Given the description of an element on the screen output the (x, y) to click on. 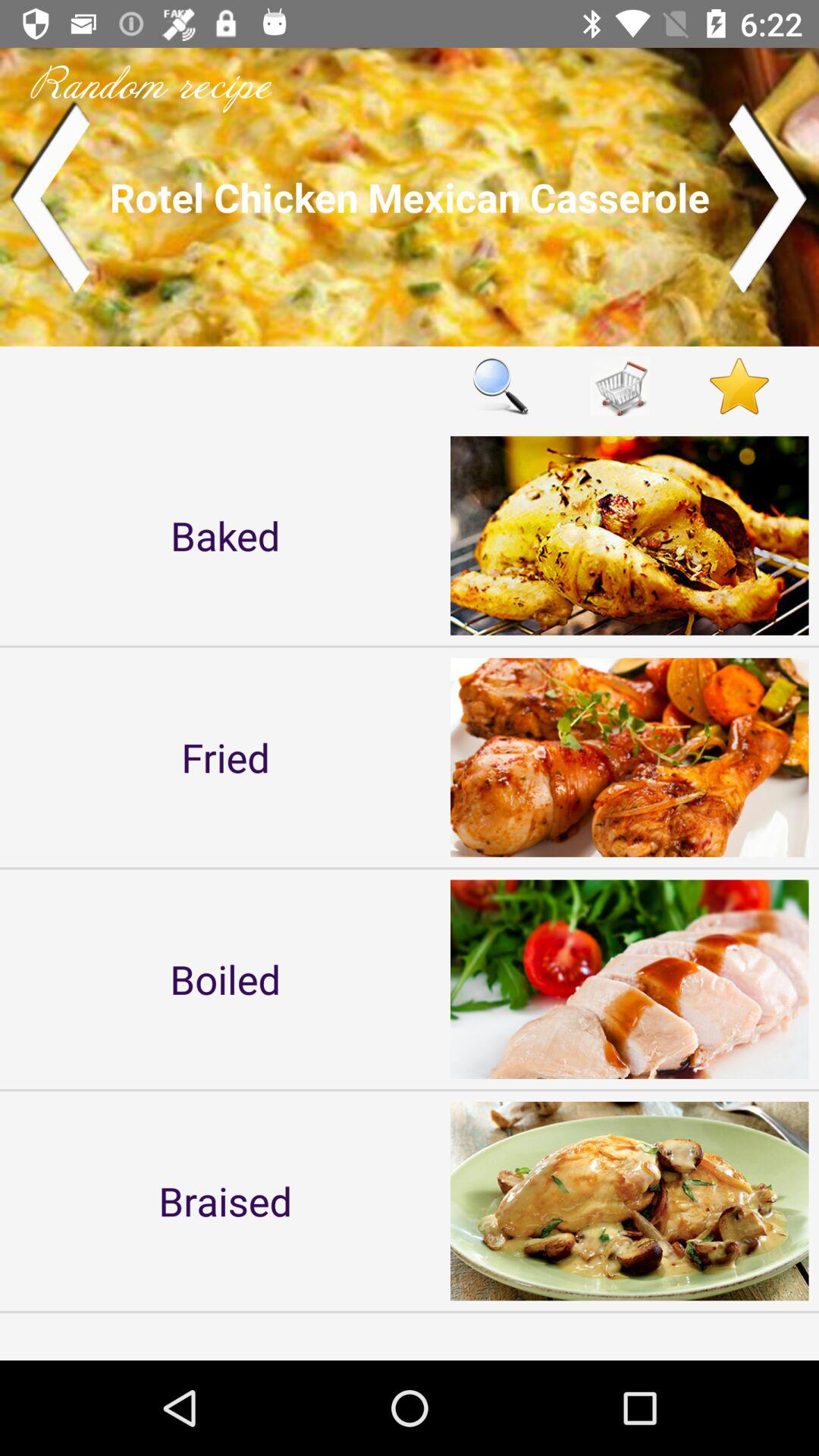
switch to next recipe (769, 196)
